Given the description of an element on the screen output the (x, y) to click on. 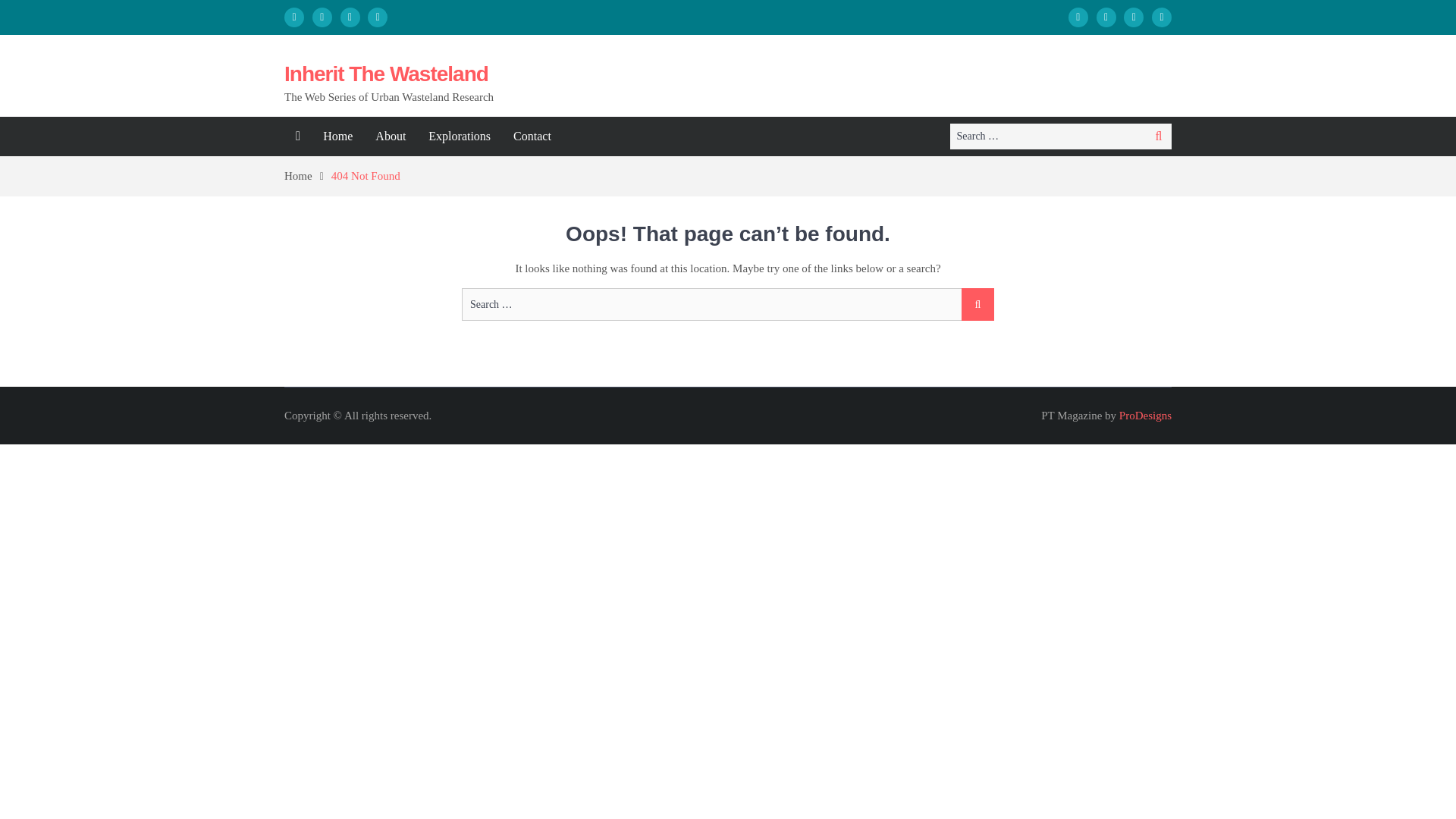
Twitter (1161, 17)
Instagram (1133, 17)
Facebook (1106, 17)
Twitter (377, 17)
Explorations (459, 136)
Search (977, 304)
Instagram (349, 17)
Inherit The Wasteland (385, 73)
Home (337, 136)
Home (307, 175)
